Given the description of an element on the screen output the (x, y) to click on. 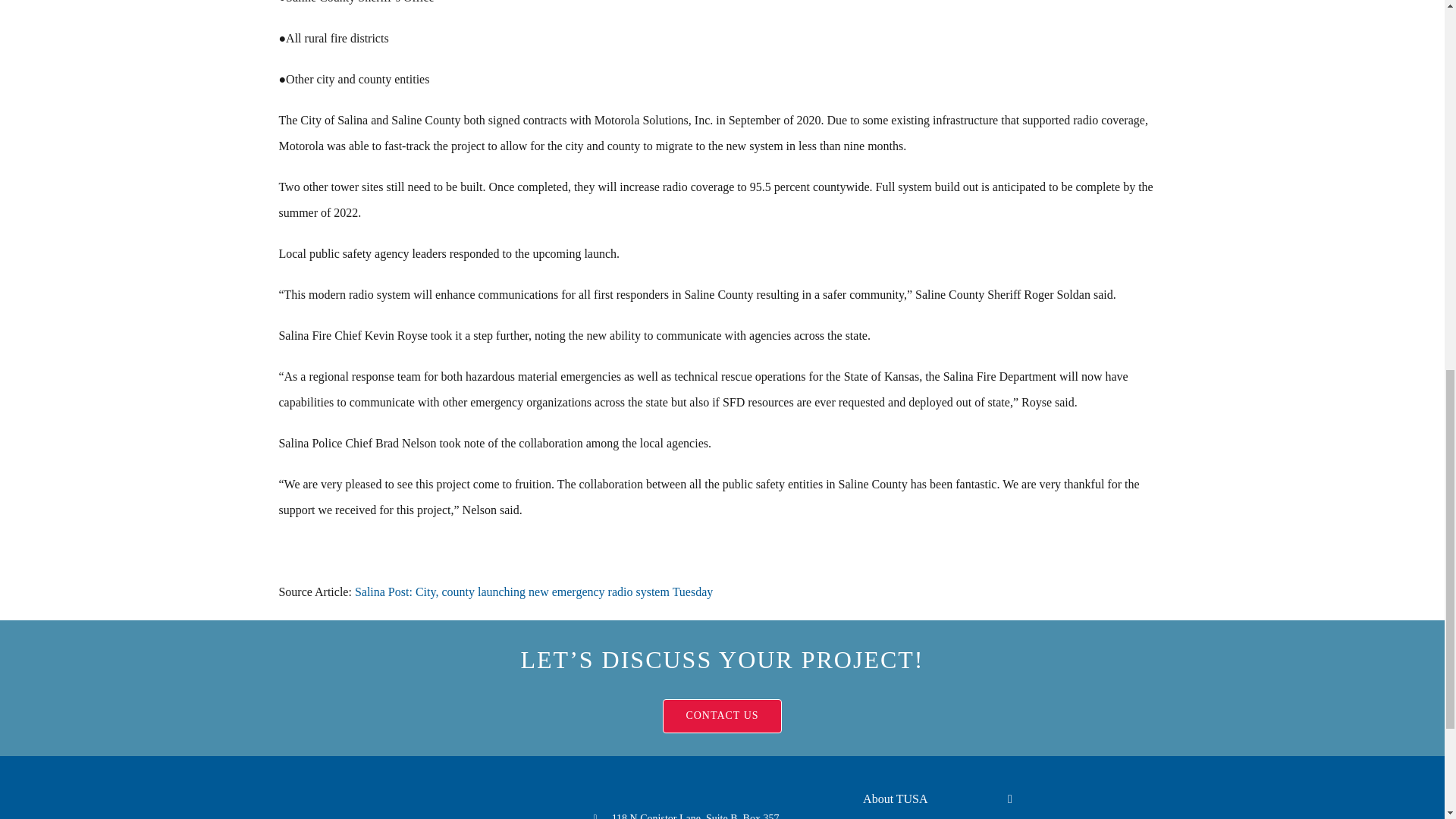
Veteran-Owned Certified (1102, 803)
TUSA Services (932, 816)
CONTACT US (721, 716)
TUSA-darkbg-whitebars (414, 804)
About TUSA (932, 799)
